Given the description of an element on the screen output the (x, y) to click on. 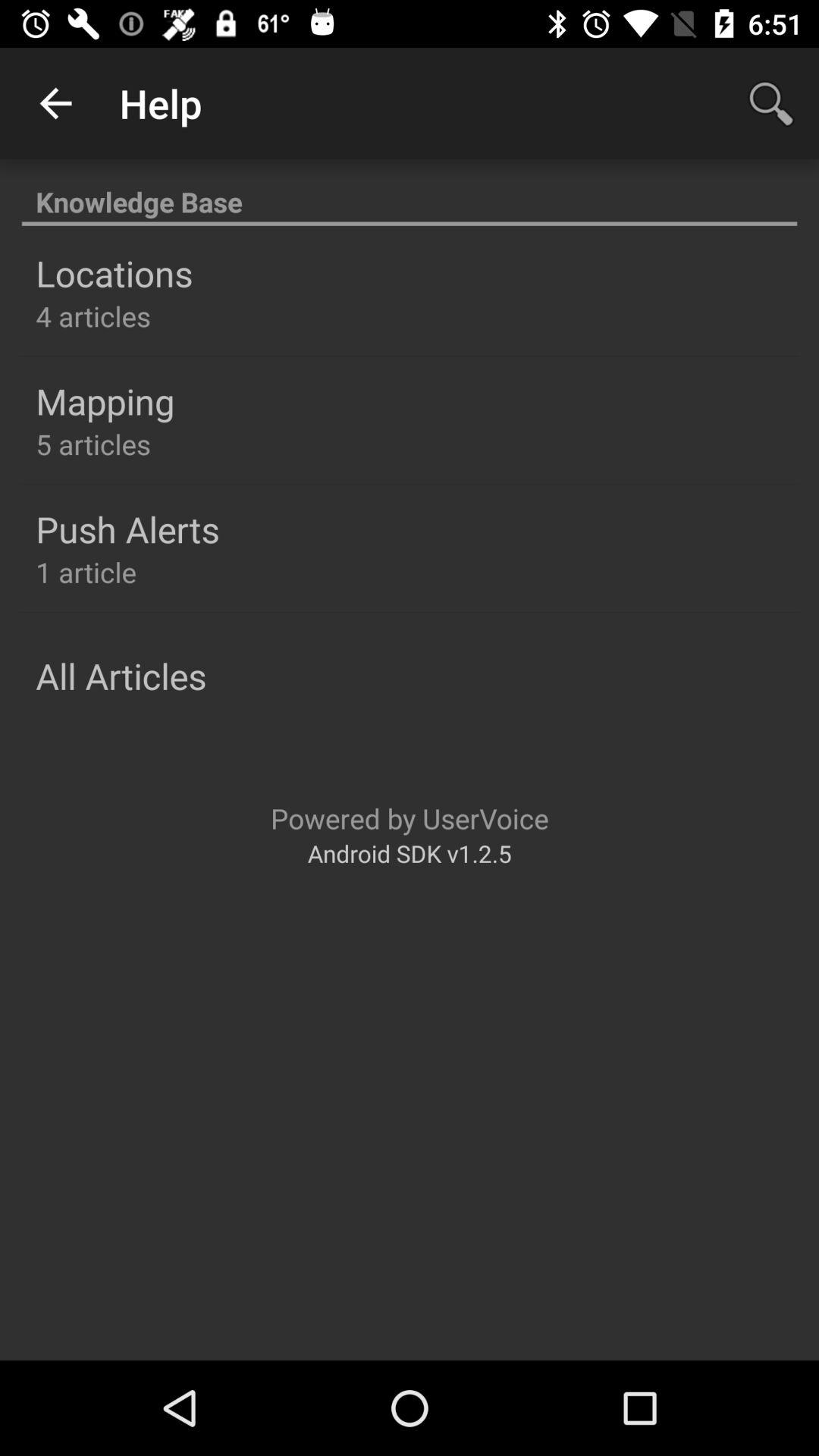
click the mapping (104, 401)
